Given the description of an element on the screen output the (x, y) to click on. 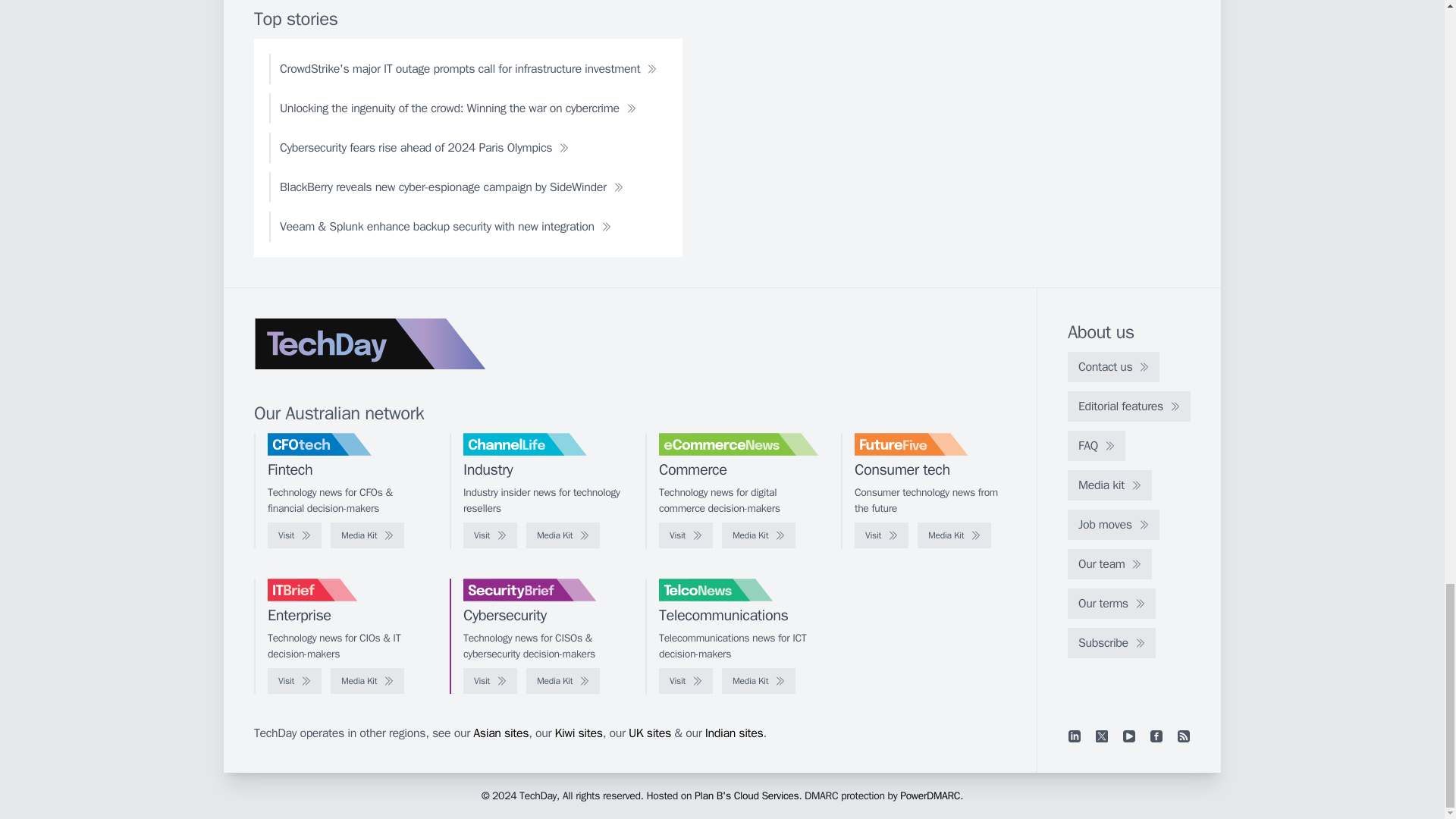
Cybersecurity fears rise ahead of 2024 Paris Olympics (424, 147)
Media Kit (367, 534)
Visit (686, 534)
Media Kit (954, 534)
Visit (294, 534)
Visit (881, 534)
Media Kit (562, 534)
Media Kit (758, 534)
Visit (489, 534)
